Given the description of an element on the screen output the (x, y) to click on. 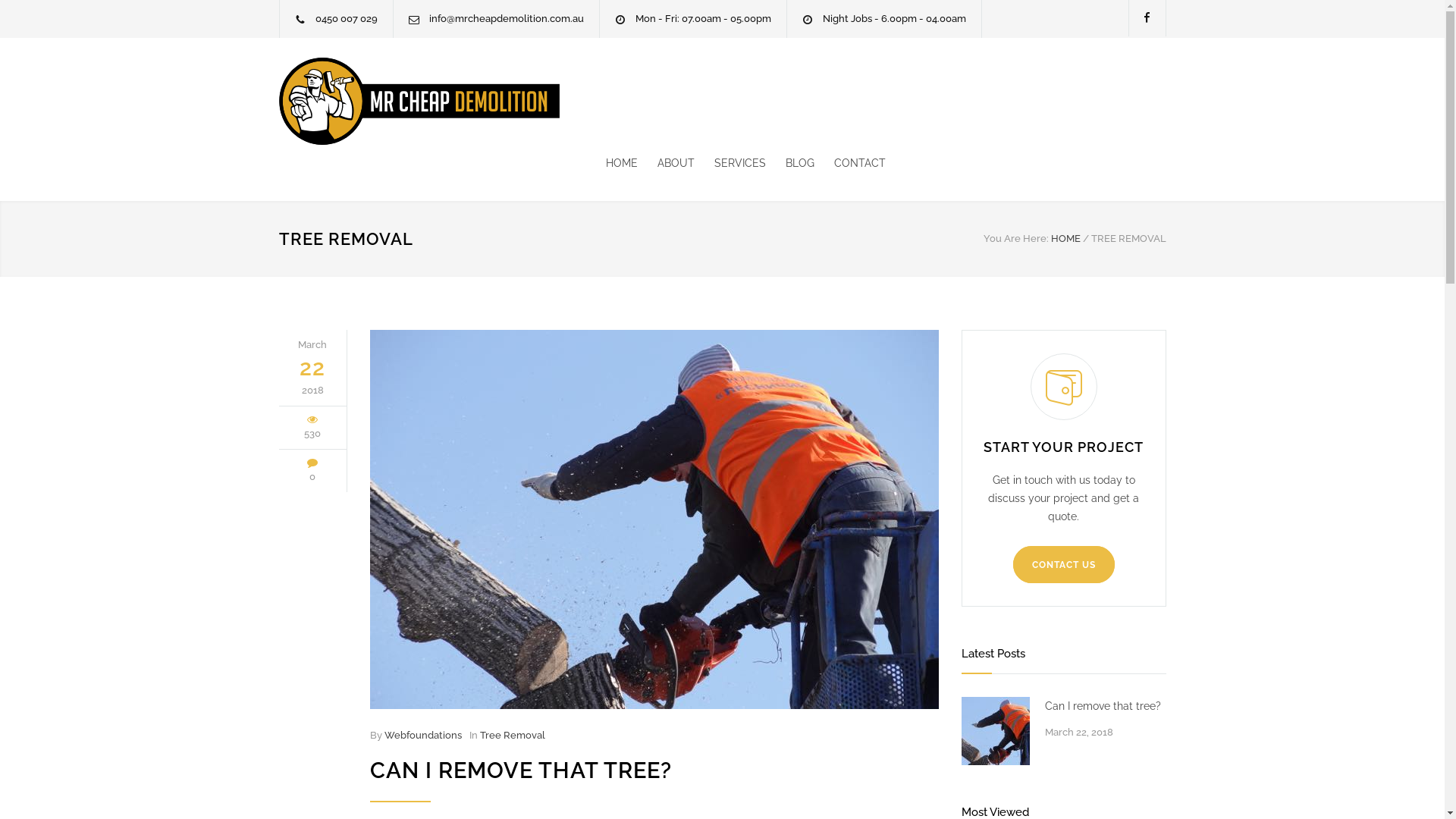
HOME Element type: text (1065, 238)
Tree Removal Element type: text (511, 734)
CONTACT Element type: text (849, 162)
BLOG Element type: text (789, 162)
CAN I REMOVE THAT TREE? Element type: text (520, 770)
Can I remove that tree? Element type: hover (995, 730)
SERVICES Element type: text (729, 162)
HOME Element type: text (621, 162)
0 Element type: text (312, 476)
Can I remove that tree? Element type: hover (654, 519)
ABOUT Element type: text (665, 162)
Webfoundations Element type: text (422, 734)
Can I remove that tree? Element type: text (1105, 705)
Mr Cheap Demolition Element type: hover (419, 100)
info@mrcheapdemolition.com.au Element type: text (506, 18)
CONTACT US Element type: text (1063, 564)
